Given the description of an element on the screen output the (x, y) to click on. 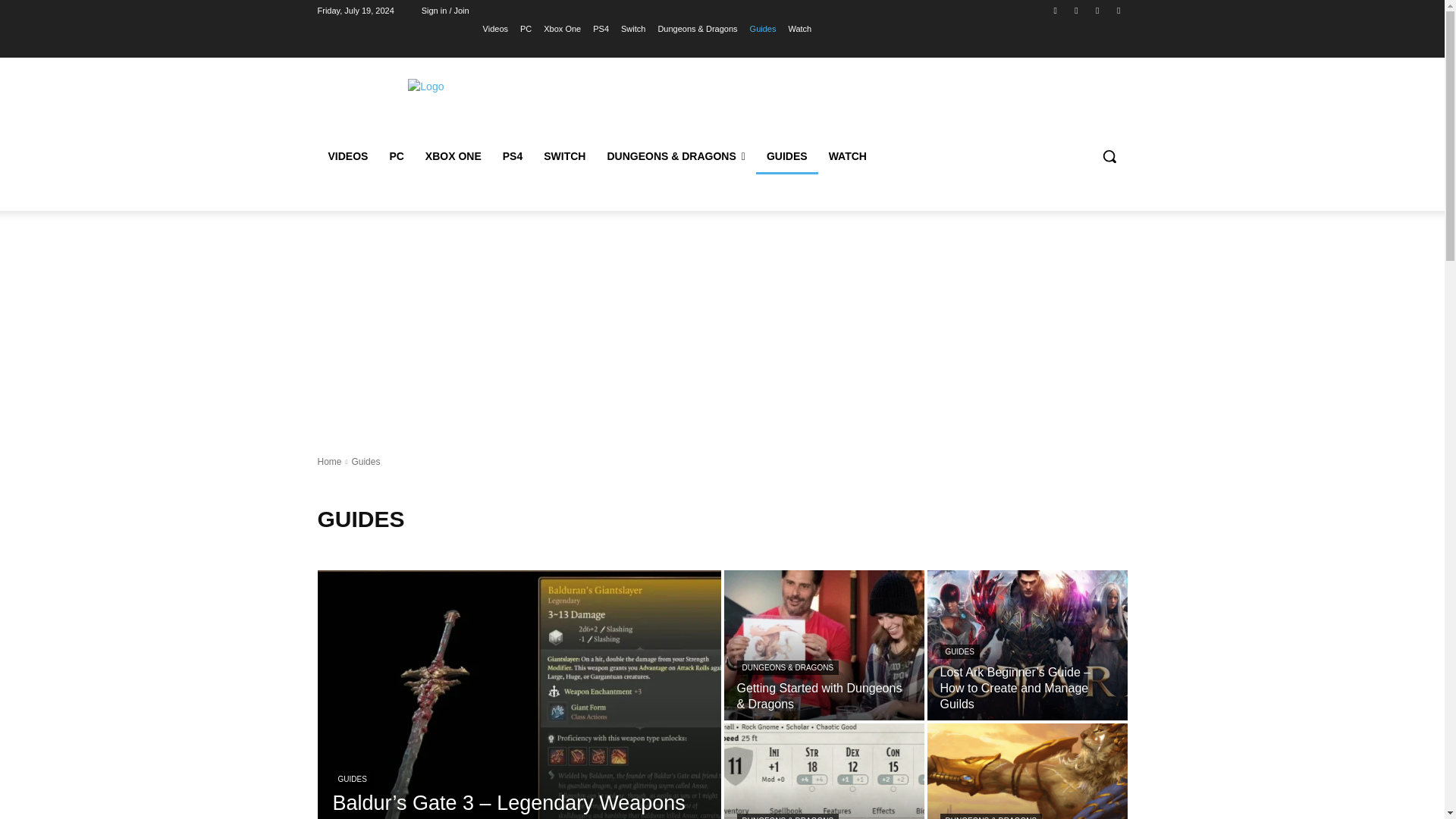
VIDEOS (347, 156)
Instagram (1075, 9)
Guides (762, 28)
Facebook (1055, 9)
XBOX ONE (453, 156)
PC (395, 156)
Watch (798, 28)
PS4 (512, 156)
Youtube (1117, 9)
Twitter (1097, 9)
Xbox One (561, 28)
Switch (633, 28)
SWITCH (563, 156)
Videos (495, 28)
